Given the description of an element on the screen output the (x, y) to click on. 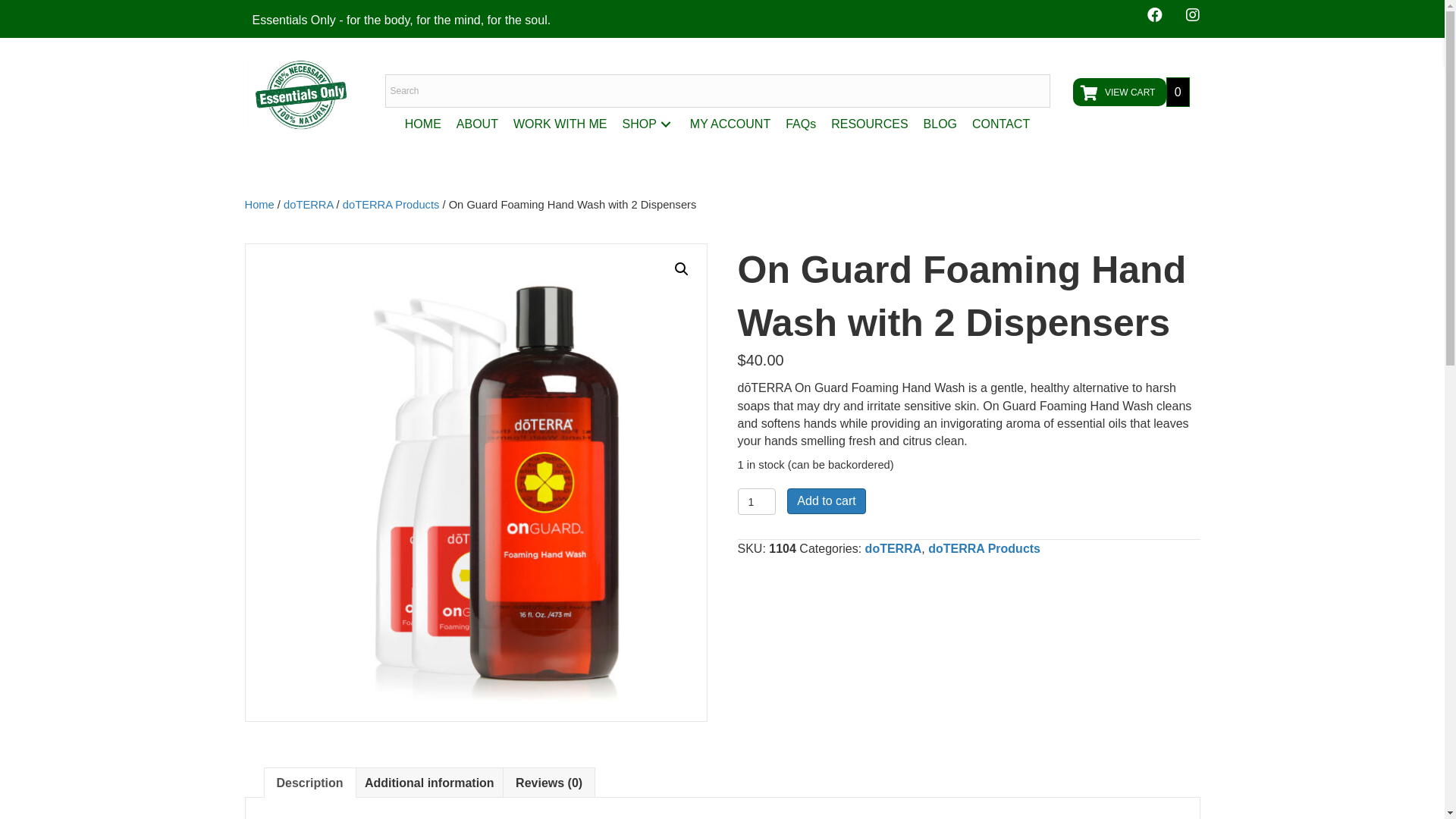
doTERRA Products Element type: text (984, 548)
Instagram Element type: hover (1191, 14)
Reviews (0) Element type: text (548, 782)
doTERRA Element type: text (893, 548)
RESOURCES Element type: text (869, 123)
SHOP Element type: text (647, 123)
WORK WITH ME Element type: text (560, 123)
VIEW CART Element type: text (1118, 92)
BLOG Element type: text (940, 123)
doTERRA Element type: text (307, 204)
Add to cart Element type: text (826, 500)
Additional information Element type: text (429, 782)
ABOUT Element type: text (476, 123)
Home Element type: text (258, 204)
Description Element type: text (309, 782)
HOME Element type: text (422, 123)
CONTACT Element type: text (1000, 123)
doTERRA Products Element type: text (390, 204)
FAQs Element type: text (800, 123)
doterra-on-guard-foaming-hand-wash-2-dispensers-1.jpg Element type: hover (475, 482)
MY ACCOUNT Element type: text (730, 123)
Facebook Element type: hover (1153, 14)
Screenshot_12 Element type: hover (300, 94)
